Given the description of an element on the screen output the (x, y) to click on. 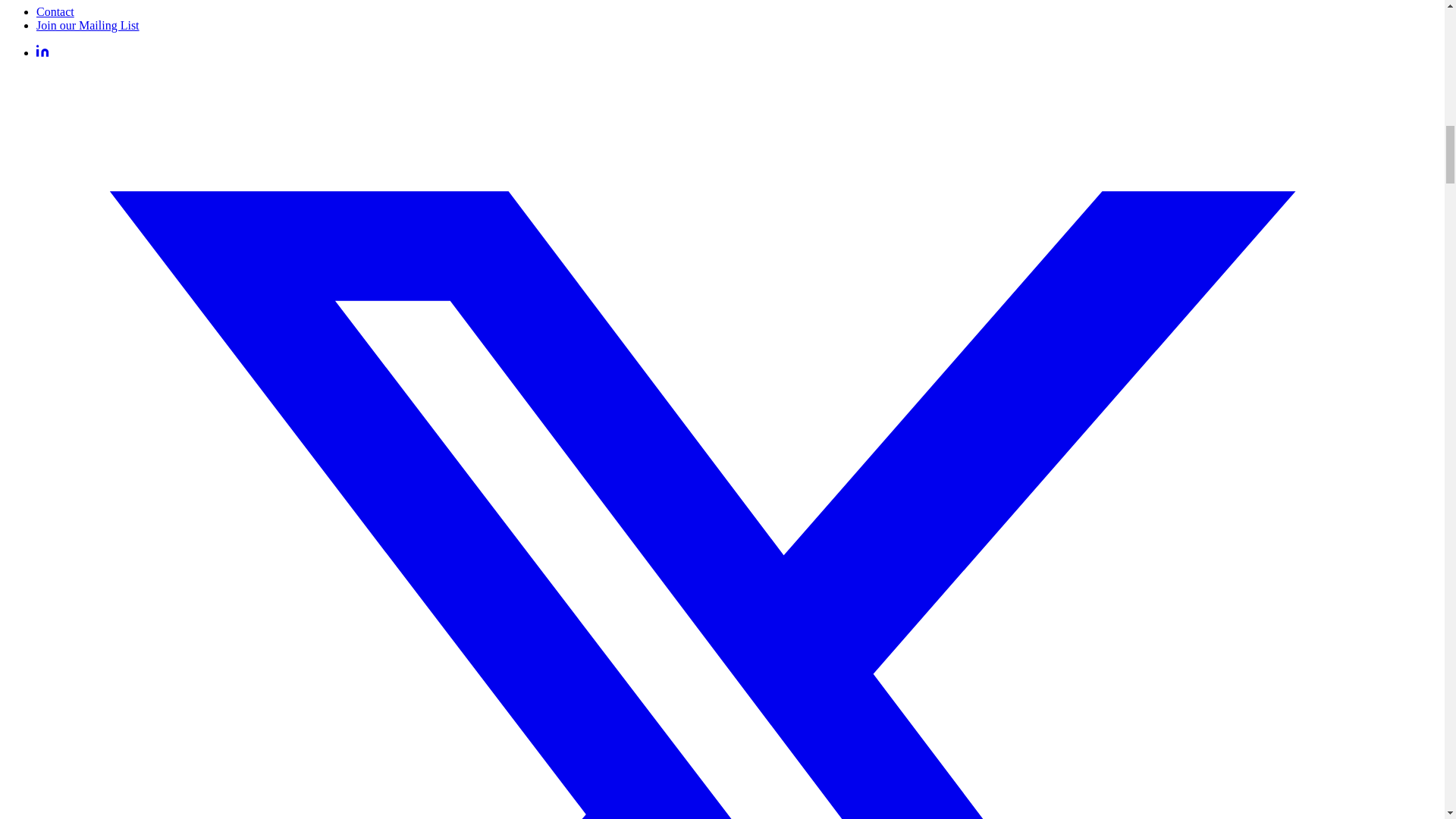
Contact (55, 11)
linkedin (42, 51)
Join our Mailing List (87, 24)
